Given the description of an element on the screen output the (x, y) to click on. 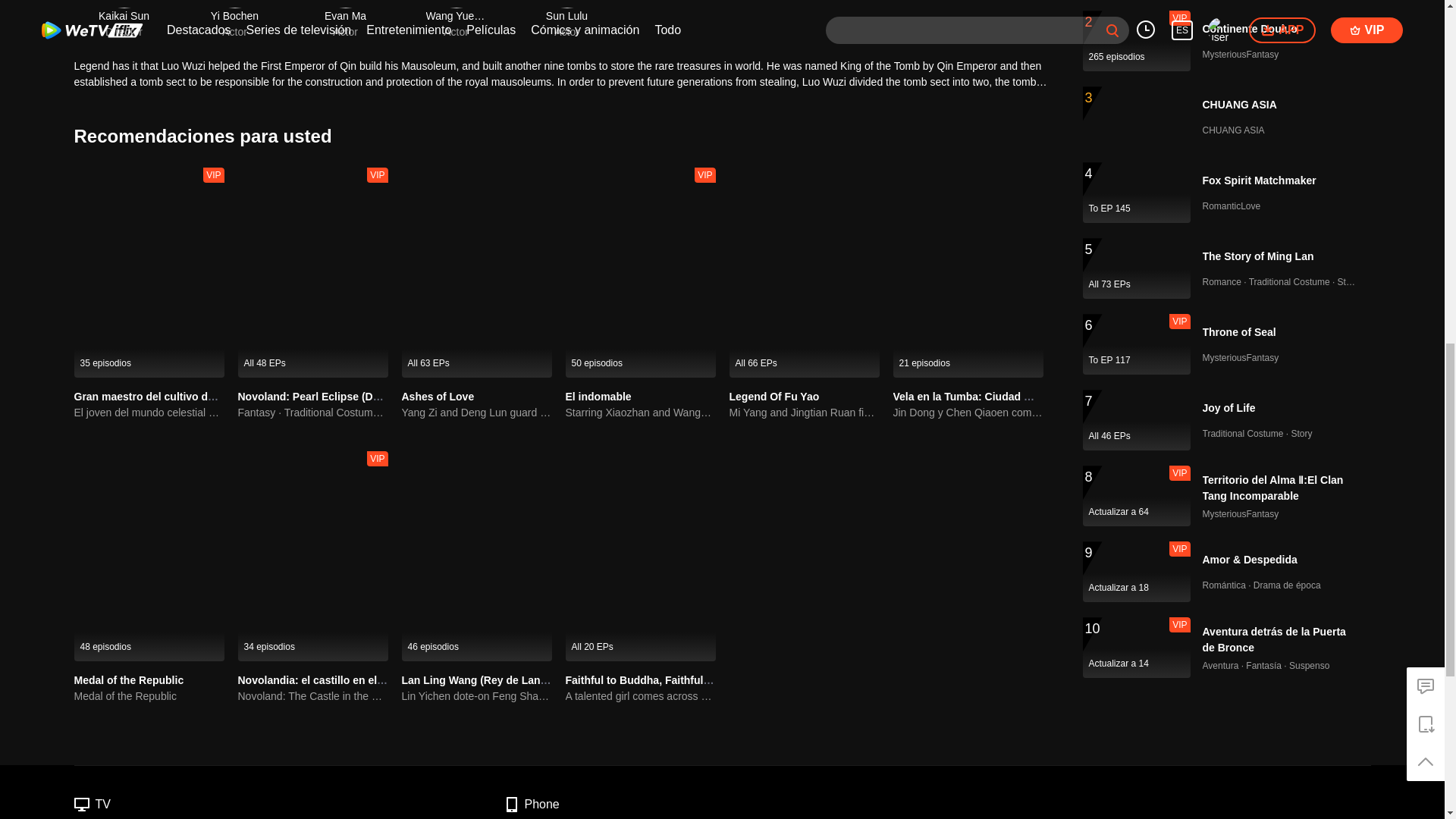
Legend Of Fu Yao (774, 396)
El joven del mundo celestial erradica males por el pueblo (149, 412)
El indomable (598, 396)
Yang Zi and Deng Lun guard the a-thousand-year love (476, 412)
Vela en la Tumba: Ciudad Misteriosa (985, 396)
Starring Xiaozhan and Wangyibo (641, 412)
Medal of the Republic (129, 680)
Ashes of Love (437, 396)
